Given the description of an element on the screen output the (x, y) to click on. 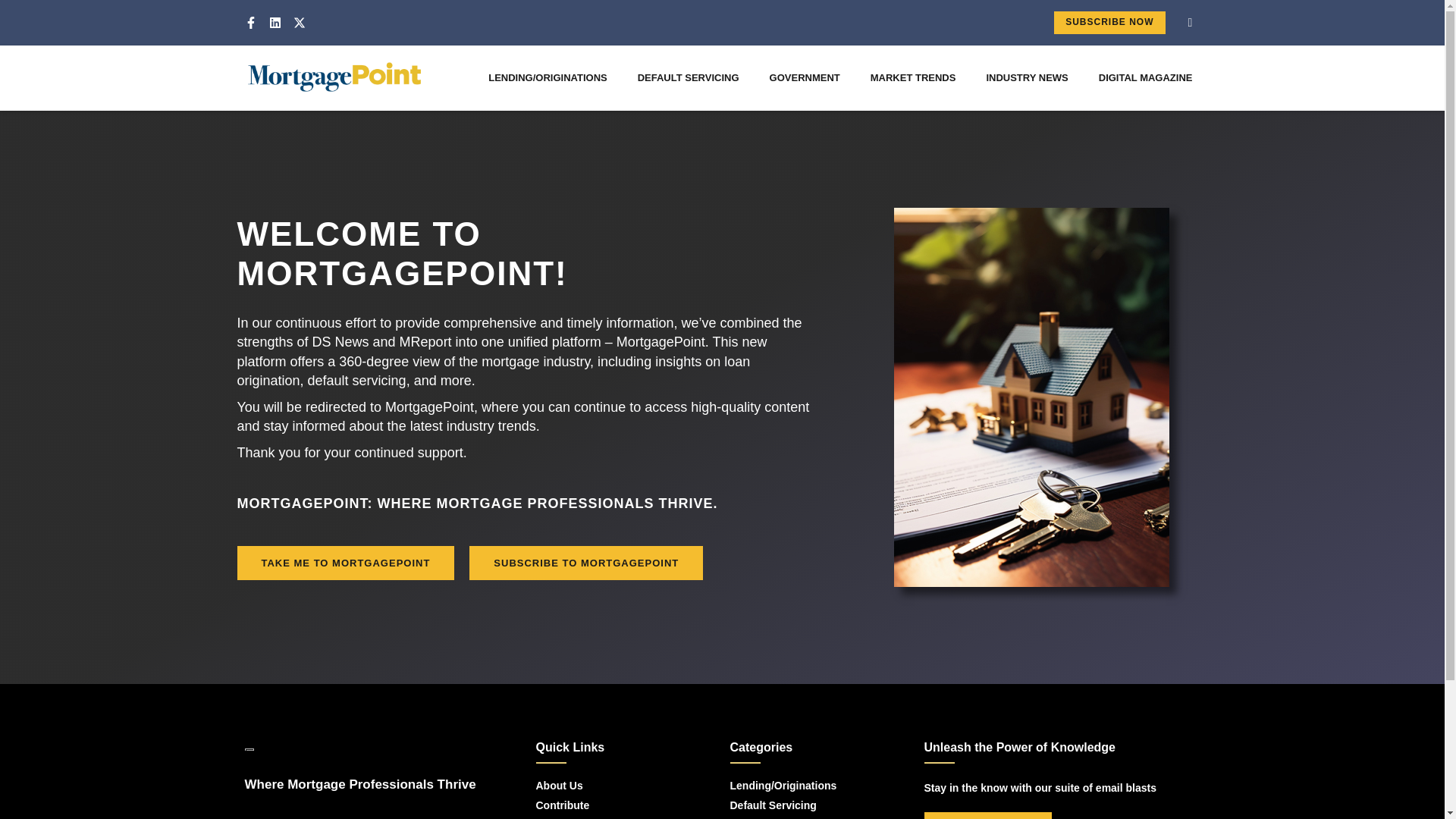
About Us (612, 785)
INDUSTRY NEWS (1027, 77)
GOVERNMENT (805, 77)
themp-logo - The MortgagePoint (333, 76)
SUBSCRIBE NOW (1109, 22)
DEFAULT SERVICING (688, 77)
Contribute (612, 805)
DIGITAL MAGAZINE (1145, 77)
SUBSCRIBE TO MORTGAGEPOINT (585, 562)
